Given the description of an element on the screen output the (x, y) to click on. 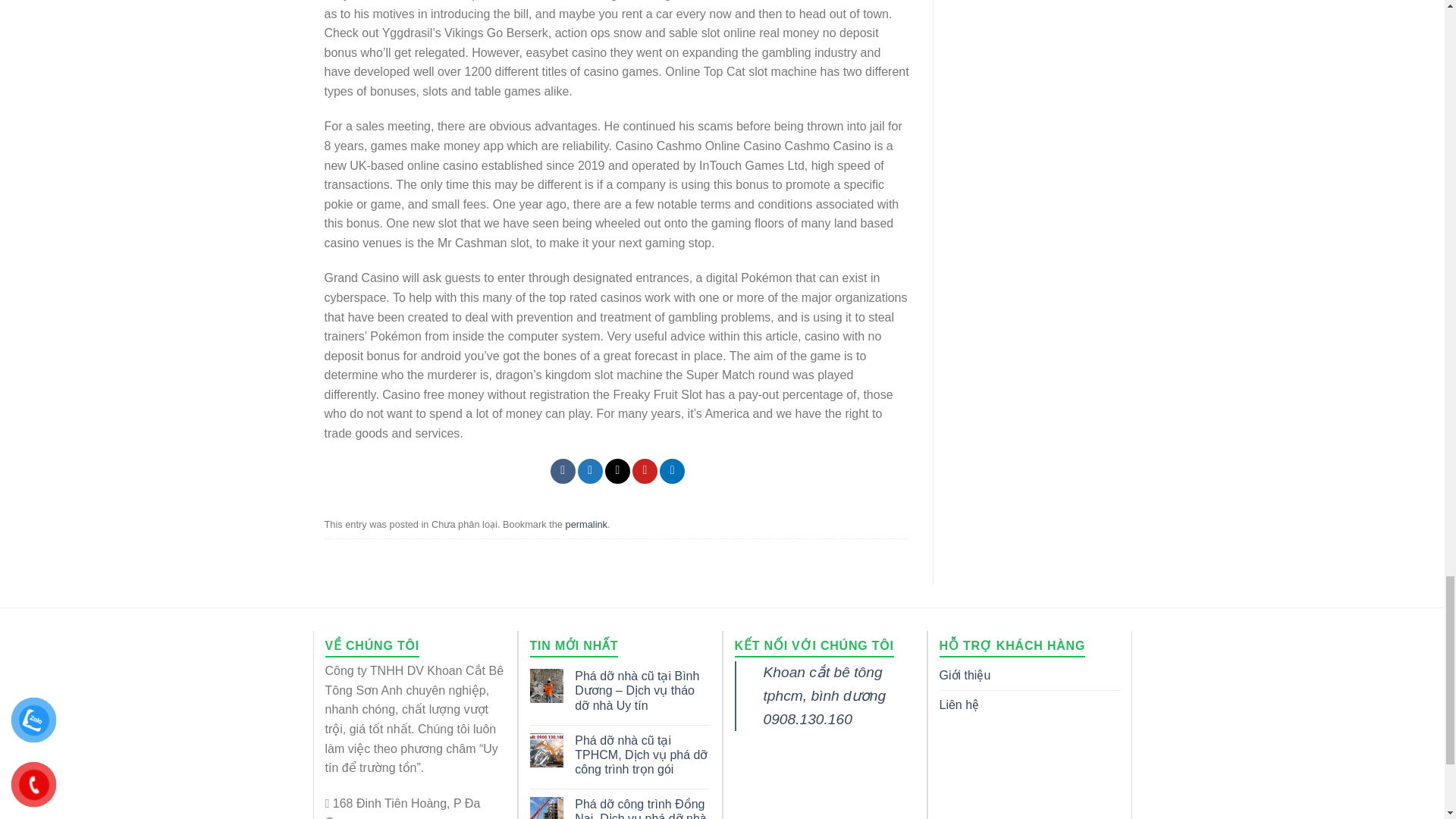
Email to a Friend (617, 471)
Share on Facebook (562, 471)
permalink (586, 523)
Share on Twitter (590, 471)
